Given the description of an element on the screen output the (x, y) to click on. 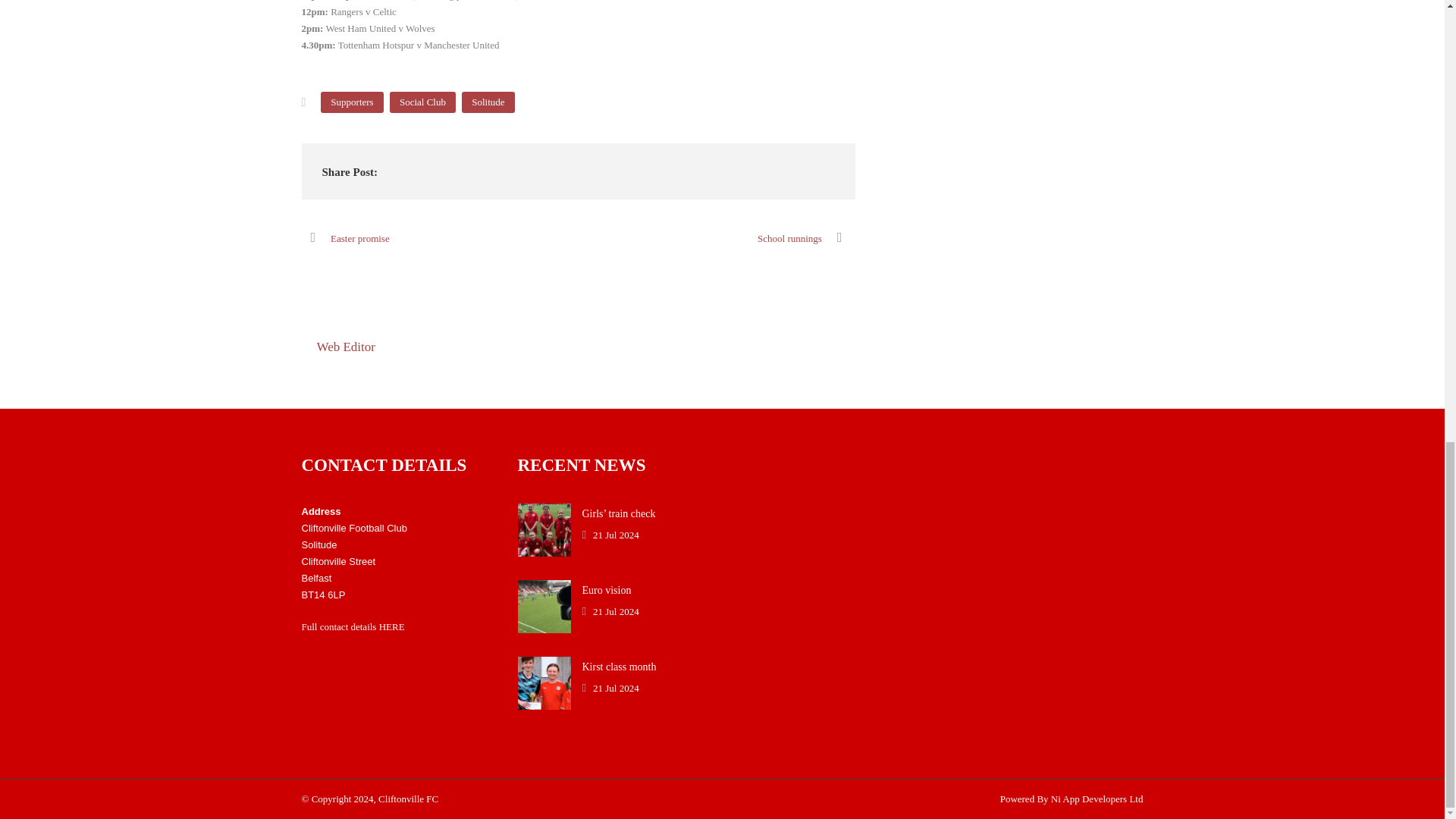
Posts by Web Editor (346, 346)
